Given the description of an element on the screen output the (x, y) to click on. 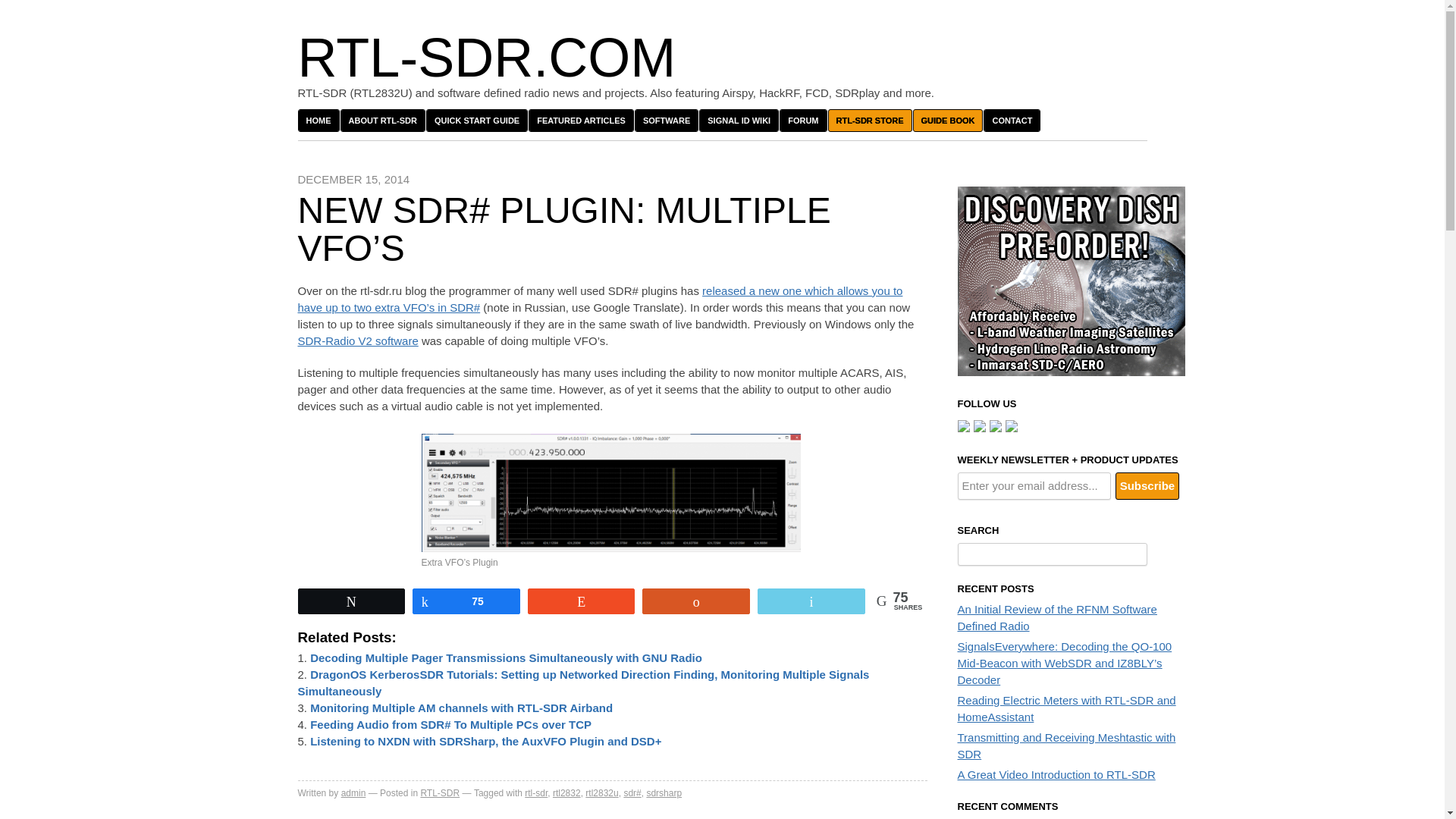
Posts by admin (353, 792)
Enter your email address... (1032, 485)
Search (1169, 553)
RTL-SDR.COM (486, 57)
Subscribe (1147, 485)
FEATURED ARTICLES (580, 119)
HOME (318, 119)
Monitoring Multiple AM channels with RTL-SDR Airband (461, 707)
ABOUT RTL-SDR (382, 119)
rtl-sdr.com (486, 57)
QUICK START GUIDE (476, 119)
